Given the description of an element on the screen output the (x, y) to click on. 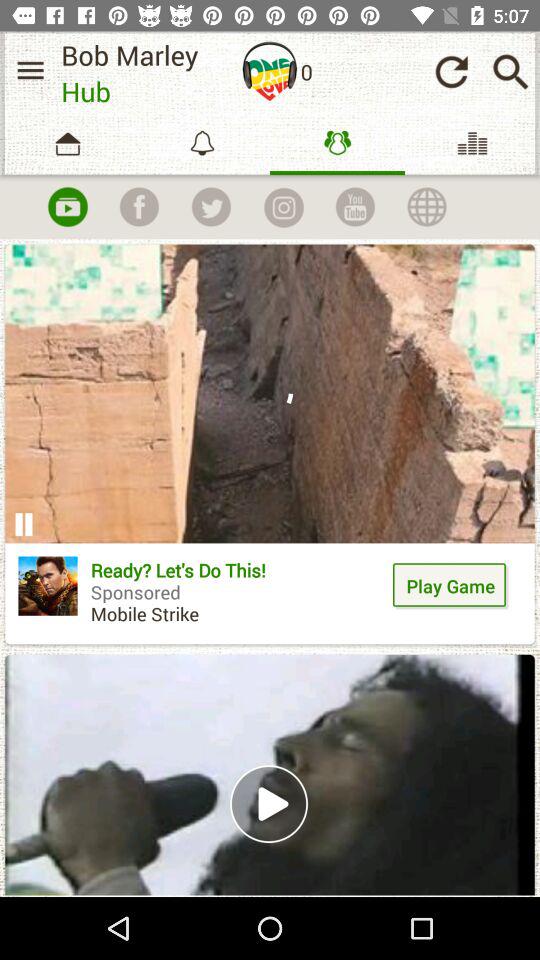
open the item to the right of the 0 item (451, 71)
